Given the description of an element on the screen output the (x, y) to click on. 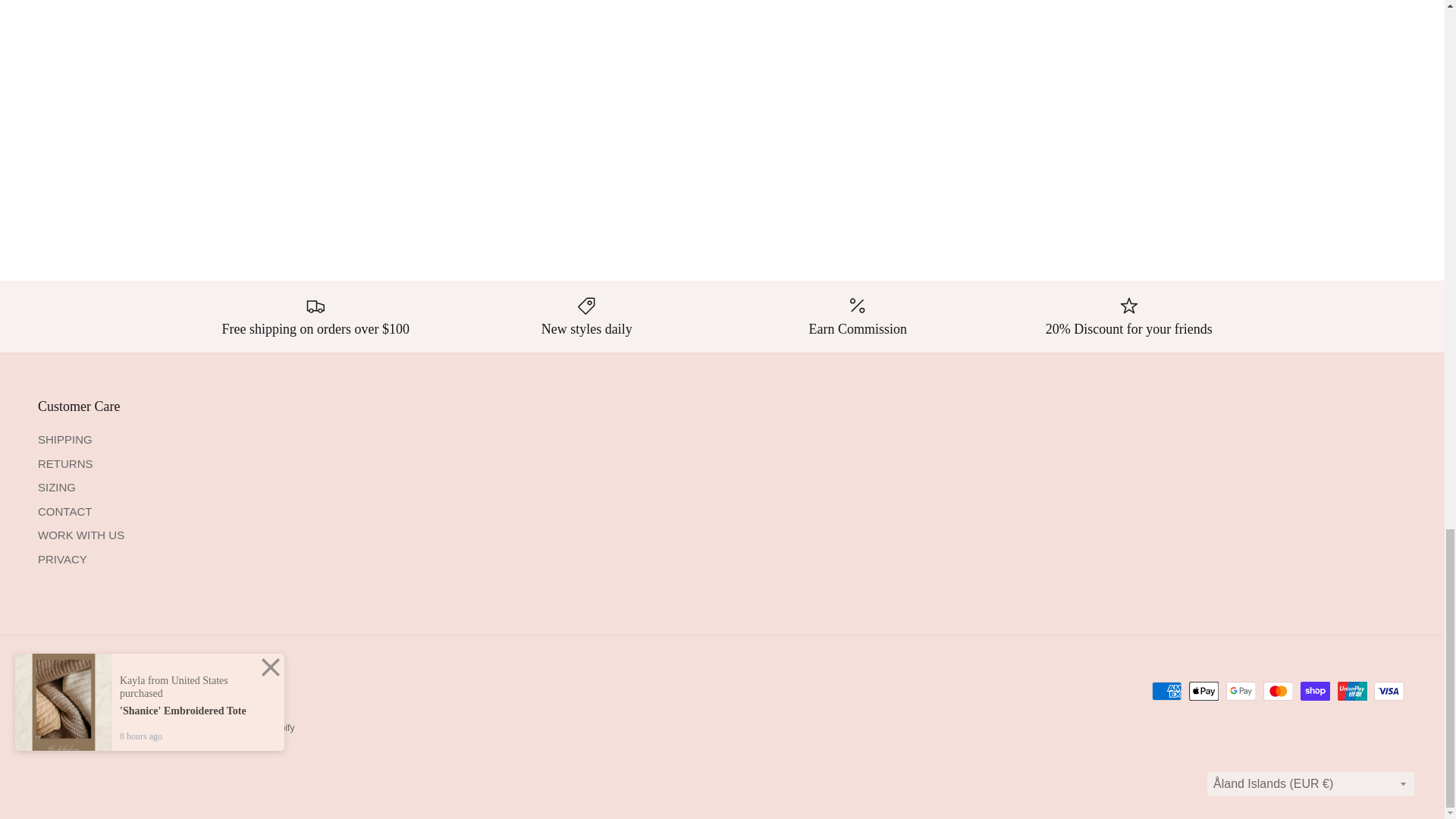
American Express (1166, 691)
Mastercard (1277, 691)
Google Pay (1240, 691)
Apple Pay (1203, 691)
